Given the description of an element on the screen output the (x, y) to click on. 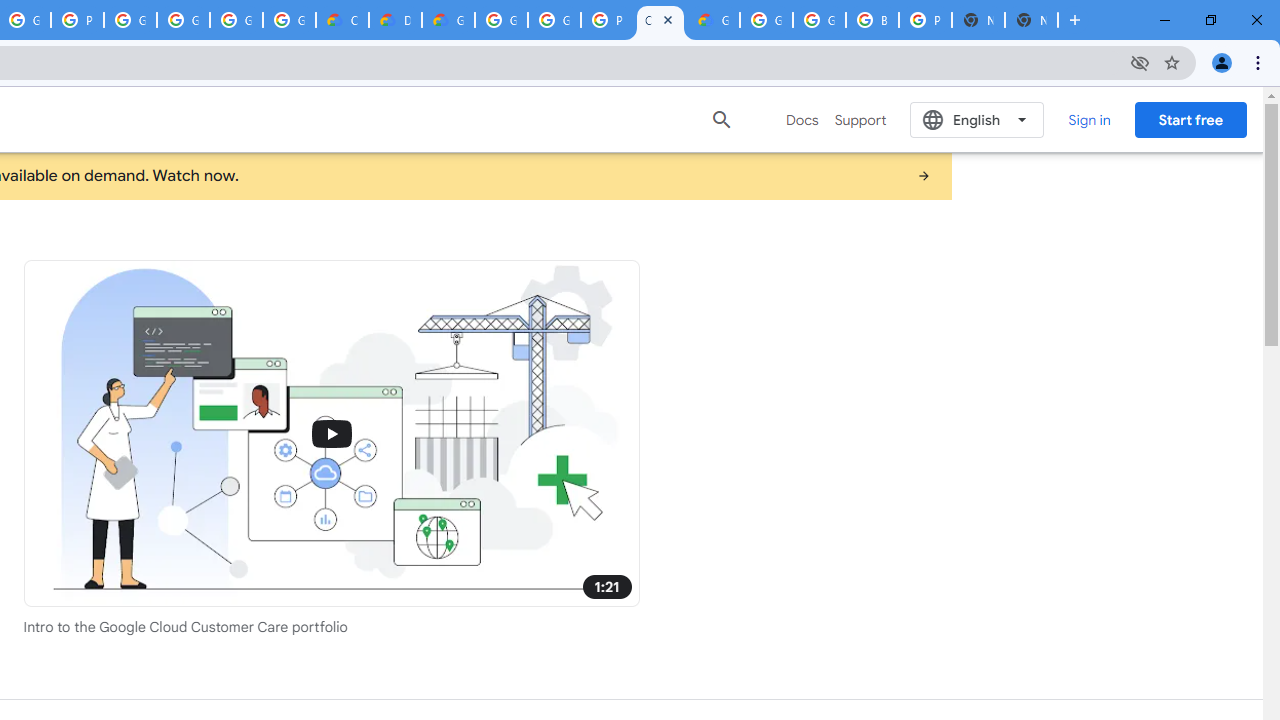
Customer Care | Google Cloud (660, 20)
Google Workspace - Specific Terms (289, 20)
Google Workspace - Specific Terms (235, 20)
Google Cloud Platform (554, 20)
Start free (1190, 119)
New Tab (1031, 20)
